Given the description of an element on the screen output the (x, y) to click on. 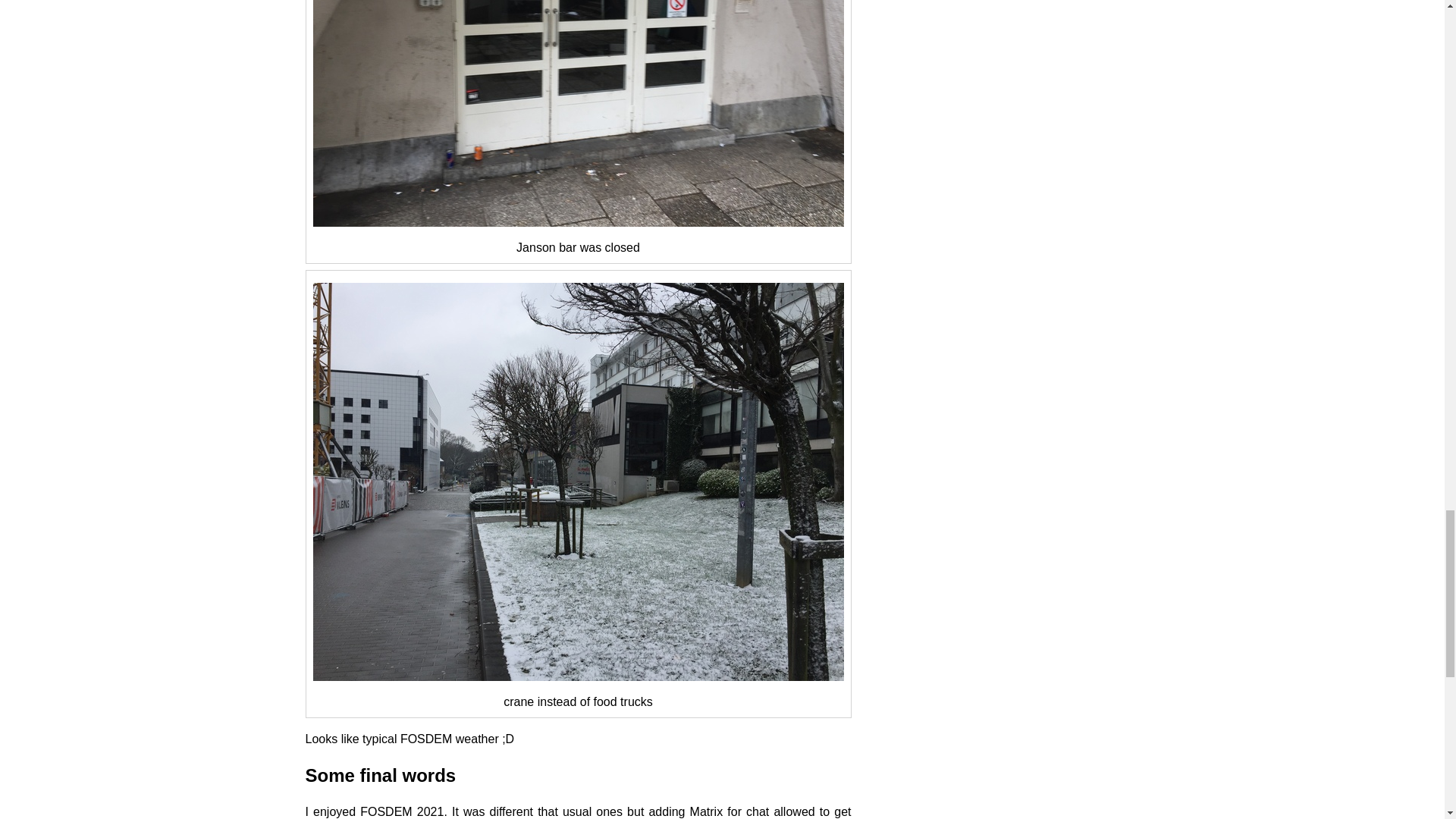
Janson bar was closed (578, 113)
